Given the description of an element on the screen output the (x, y) to click on. 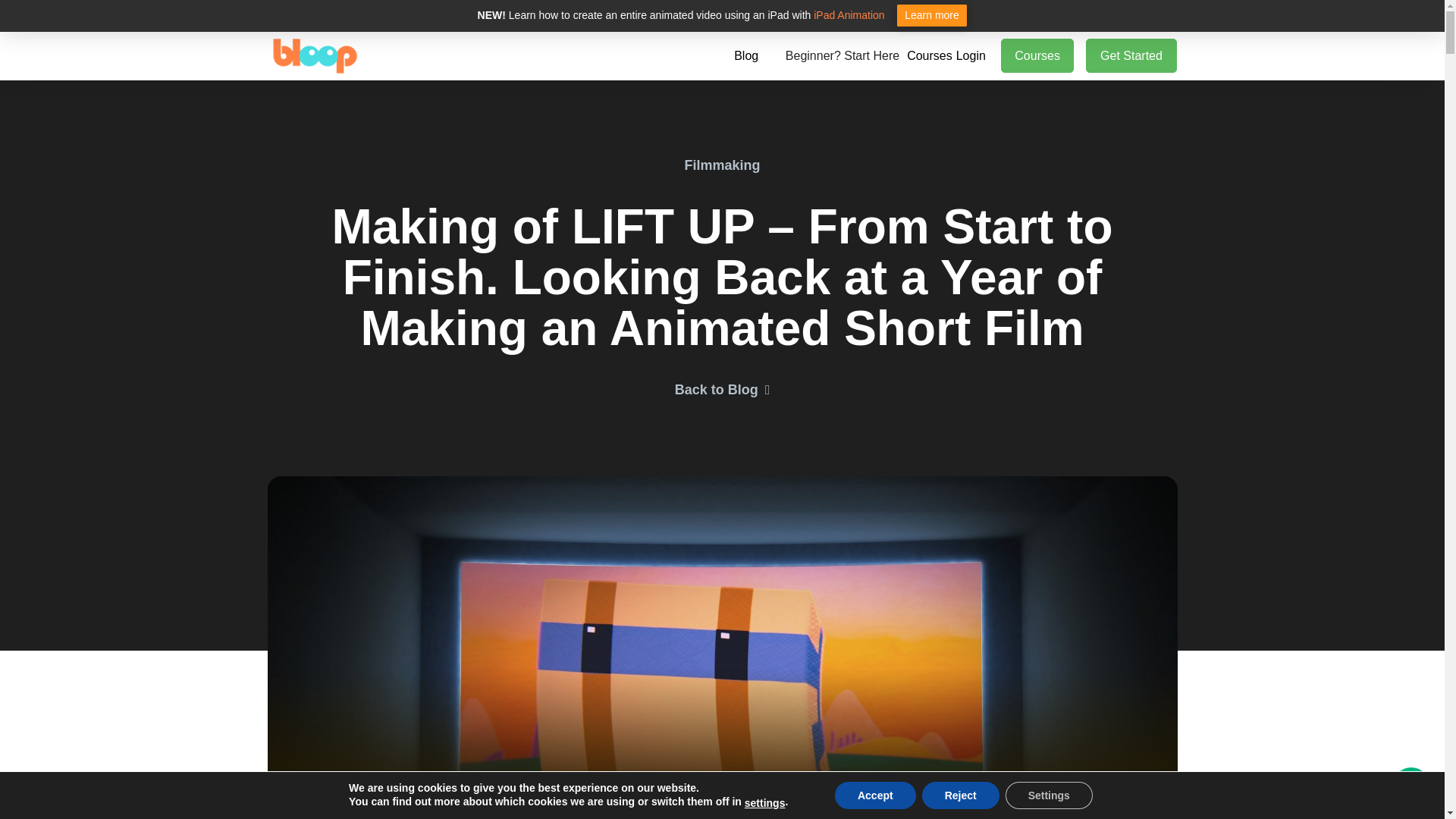
Beginner? Start Here (842, 55)
iPad  (825, 15)
Courses (1037, 55)
Animation (860, 15)
Get Started (1131, 55)
Learn more (932, 15)
Filmmaking (722, 165)
Back to Blog (722, 389)
Blog (753, 55)
